Given the description of an element on the screen output the (x, y) to click on. 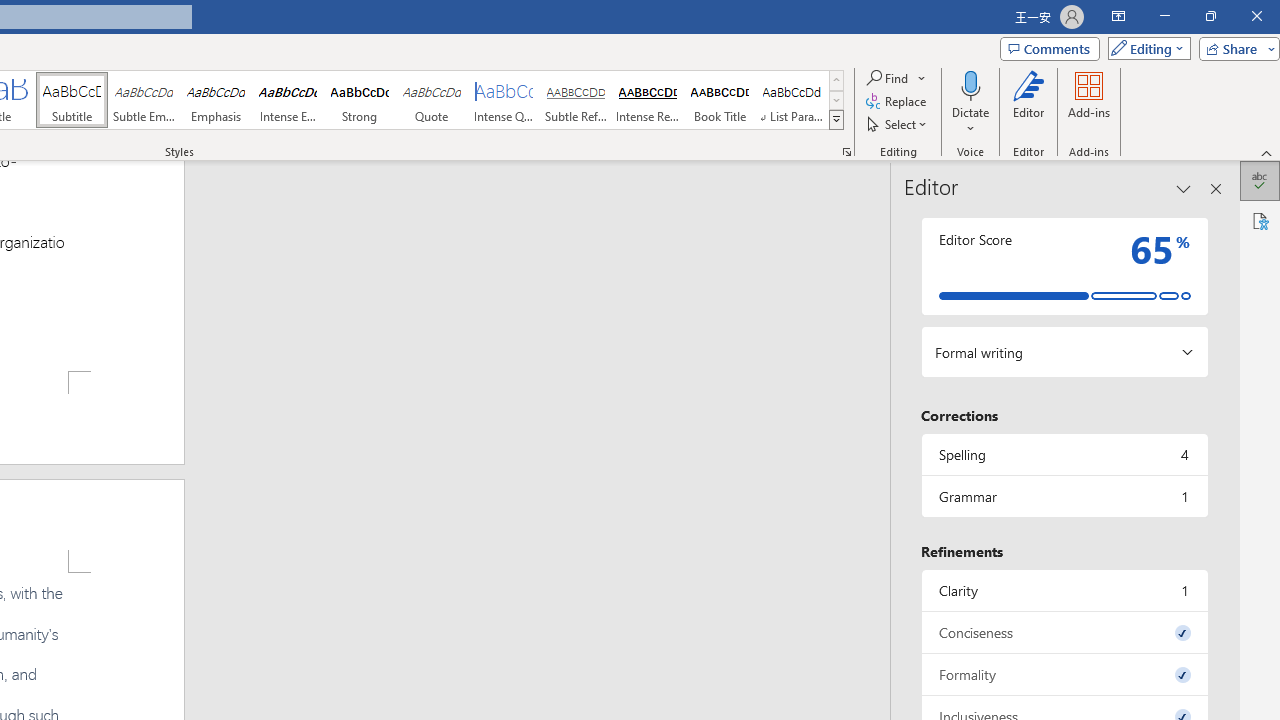
Row Down (836, 100)
Styles (836, 120)
Intense Reference (647, 100)
Formality, 0 issues. Press space or enter to review items. (1064, 673)
Editing (1144, 47)
Spelling, 4 issues. Press space or enter to review items. (1064, 454)
Strong (359, 100)
Subtle Emphasis (143, 100)
